Given the description of an element on the screen output the (x, y) to click on. 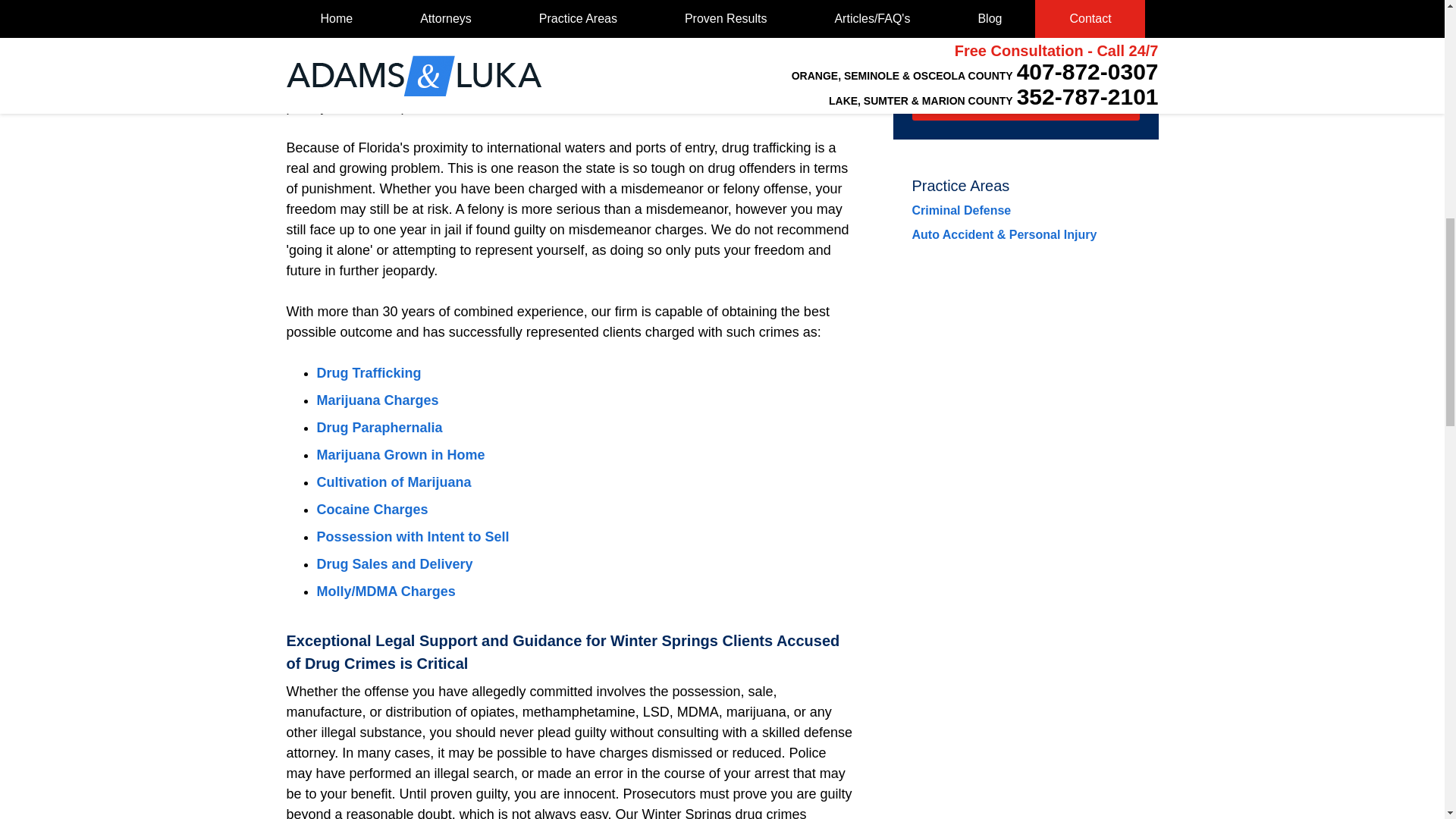
Possession with Intent to Sell (413, 536)
Marijuana Grown in Home (400, 454)
Drug Sales and Delivery (395, 563)
Cultivation of Marijuana (394, 482)
Cocaine Charges (372, 509)
Marijuana Charges (378, 400)
Drug Paraphernalia (379, 427)
Drug Trafficking (369, 372)
